Given the description of an element on the screen output the (x, y) to click on. 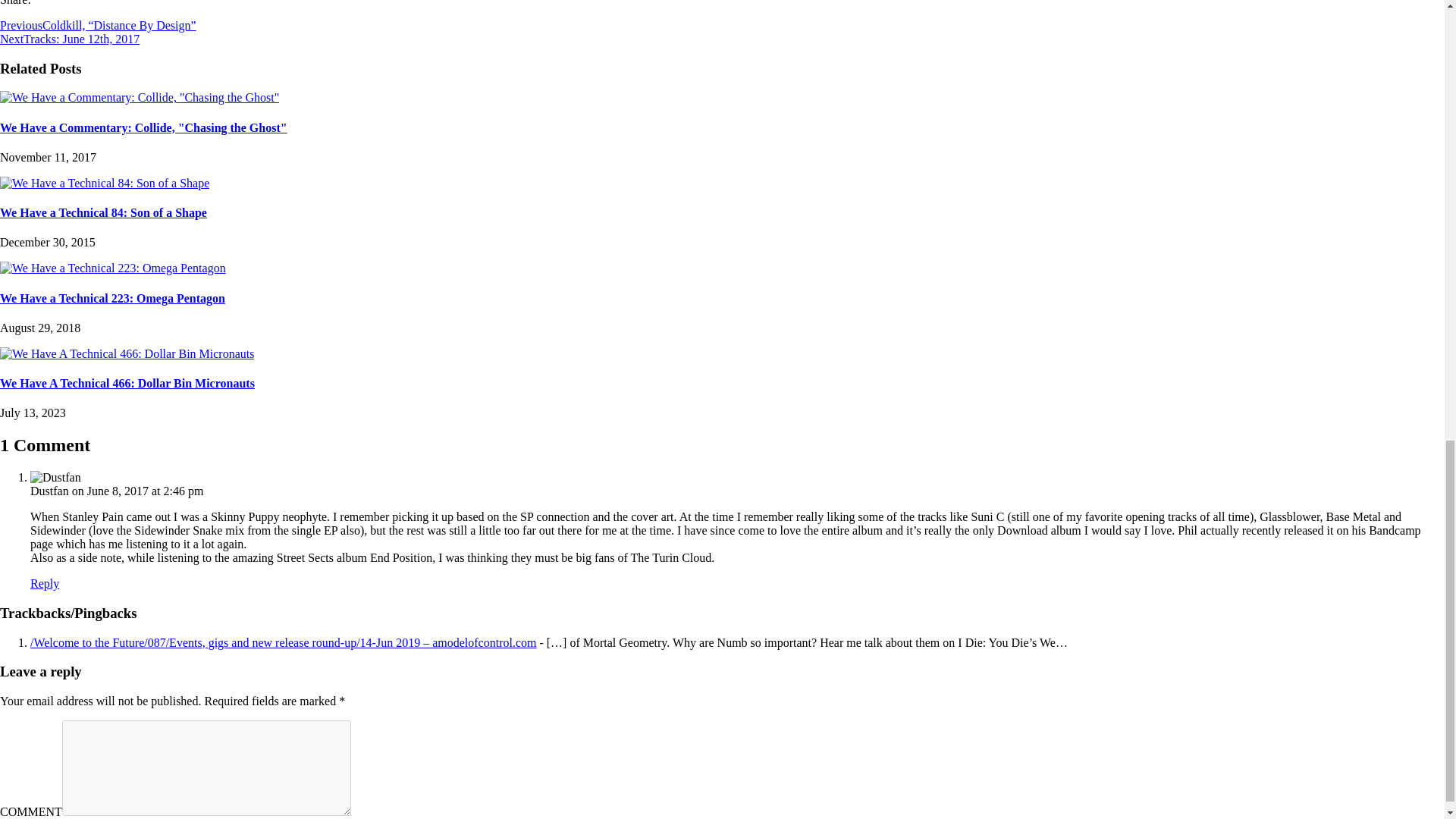
NextTracks: June 12th, 2017 (69, 38)
We Have a Commentary: Collide, "Chasing the Ghost" (139, 97)
We Have a Technical 84: Son of a Shape (103, 212)
Reply (44, 583)
We Have a Technical 84: Son of a Shape (104, 182)
We Have a Technical 223: Omega Pentagon (112, 297)
We Have a Commentary: Collide, "Chasing the Ghost" (143, 127)
We Have a Technical 223: Omega Pentagon (112, 267)
We Have A Technical 466: Dollar Bin Micronauts (127, 382)
